Given the description of an element on the screen output the (x, y) to click on. 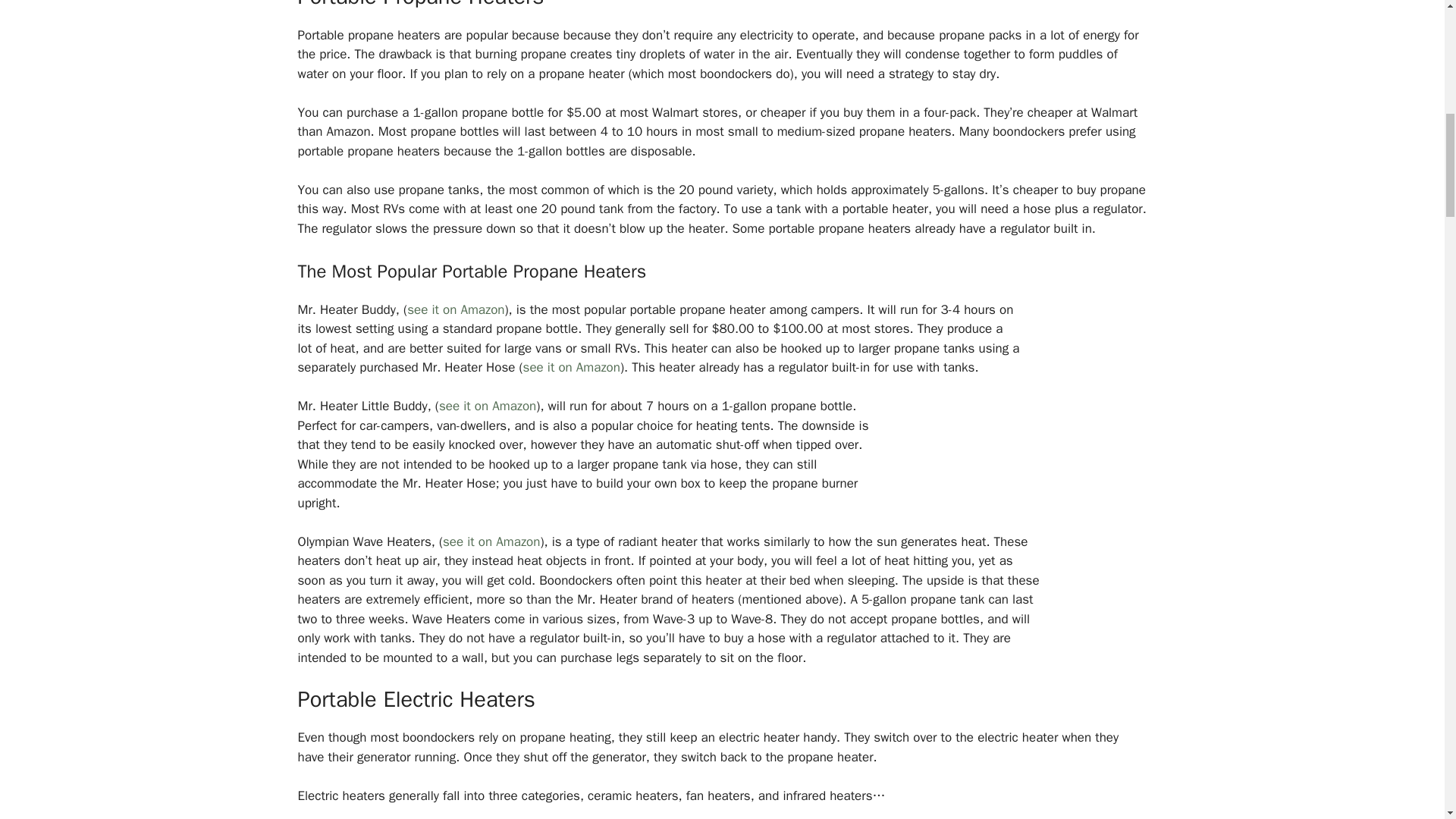
see it on Amazon (455, 309)
see it on Amazon (571, 367)
see it on Amazon (491, 541)
see it on Amazon (487, 406)
